Given the description of an element on the screen output the (x, y) to click on. 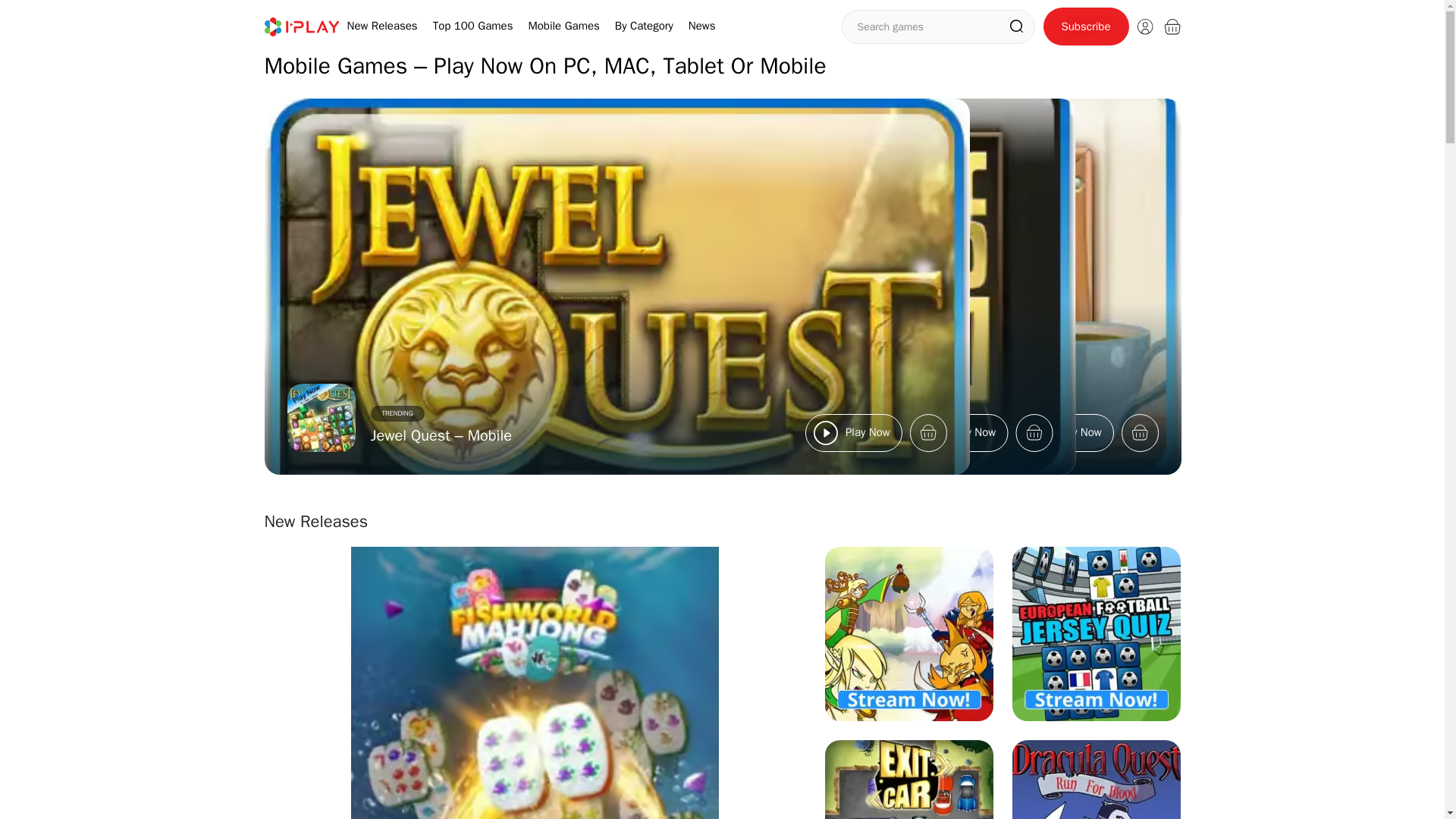
News (702, 25)
By Category (643, 25)
Daily Jigsaw (622, 434)
Search (1017, 26)
Top 100 Games (472, 25)
Search (1017, 26)
Play Now (1063, 432)
Subscribe (1086, 26)
Play Now (956, 432)
Search (1017, 26)
Deal or No Deal for Prizes (561, 434)
Play Now (851, 432)
Mobile Games (562, 25)
New Releases (382, 25)
